Given the description of an element on the screen output the (x, y) to click on. 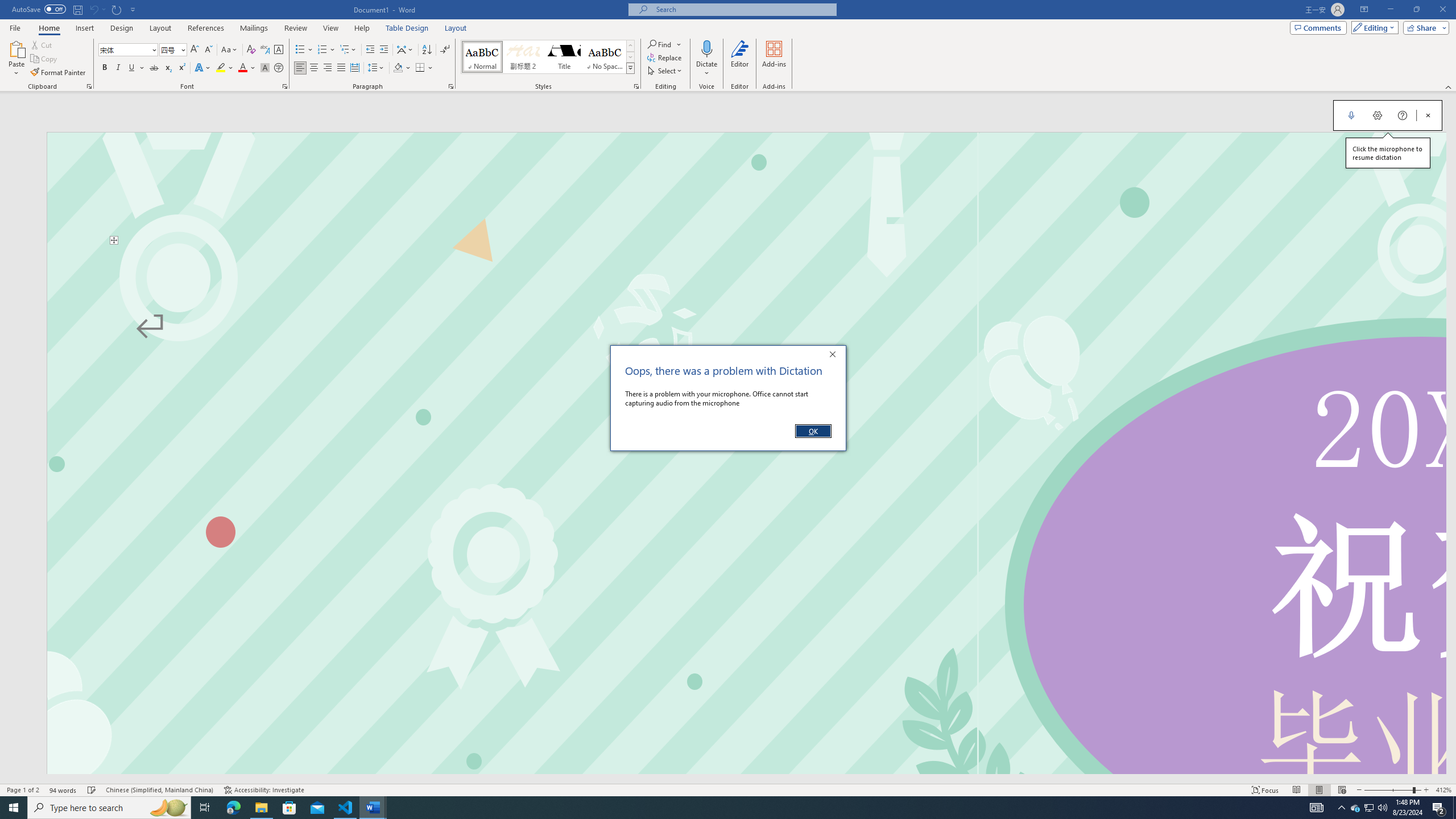
Word Count 94 words (63, 790)
Dictation Settings (1377, 115)
Can't Undo (92, 9)
